Given the description of an element on the screen output the (x, y) to click on. 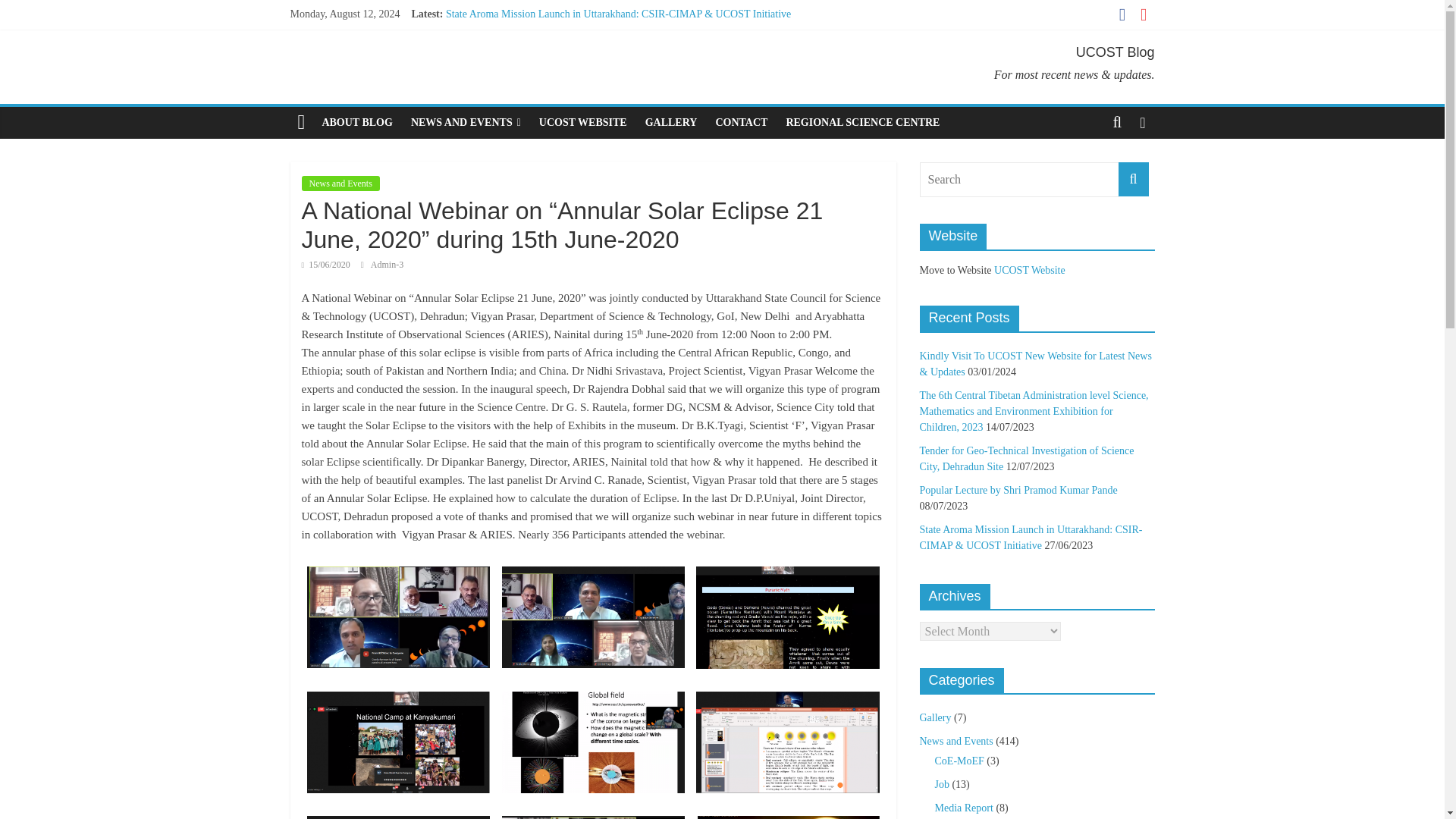
UCOST WEBSITE (582, 122)
Admin-3 (387, 264)
CONTACT (741, 122)
Admin-3 (387, 264)
Popular Lecture by Shri Pramod Kumar Pande (544, 81)
News and Events (340, 183)
REGIONAL SCIENCE CENTRE (862, 122)
